Given the description of an element on the screen output the (x, y) to click on. 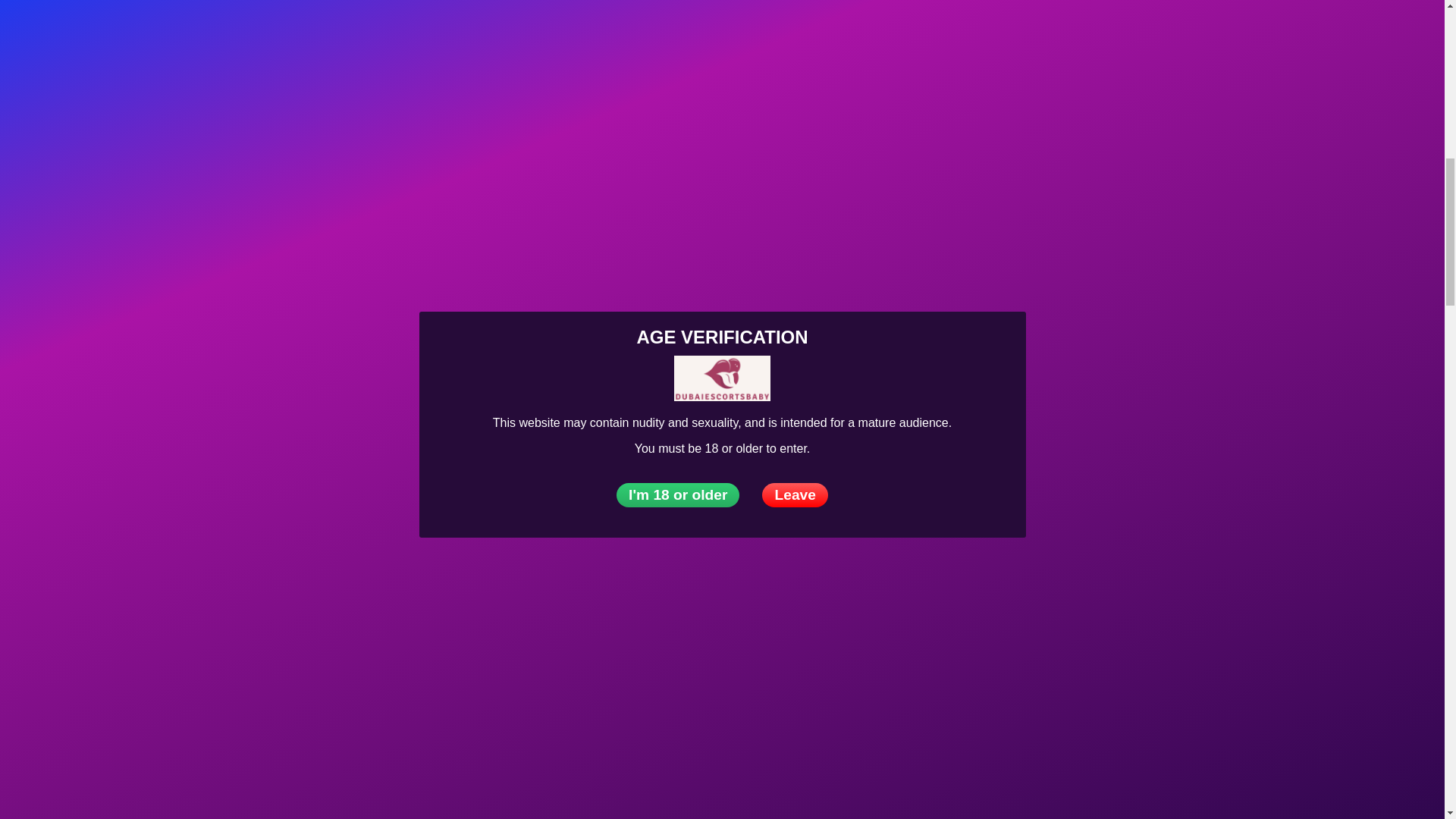
Search (1349, 183)
Submit Comment (721, 545)
Escort Morocco (301, 260)
Estonia Escort (242, 121)
Submit Comment (721, 545)
Bratislava Escort (248, 194)
